Given the description of an element on the screen output the (x, y) to click on. 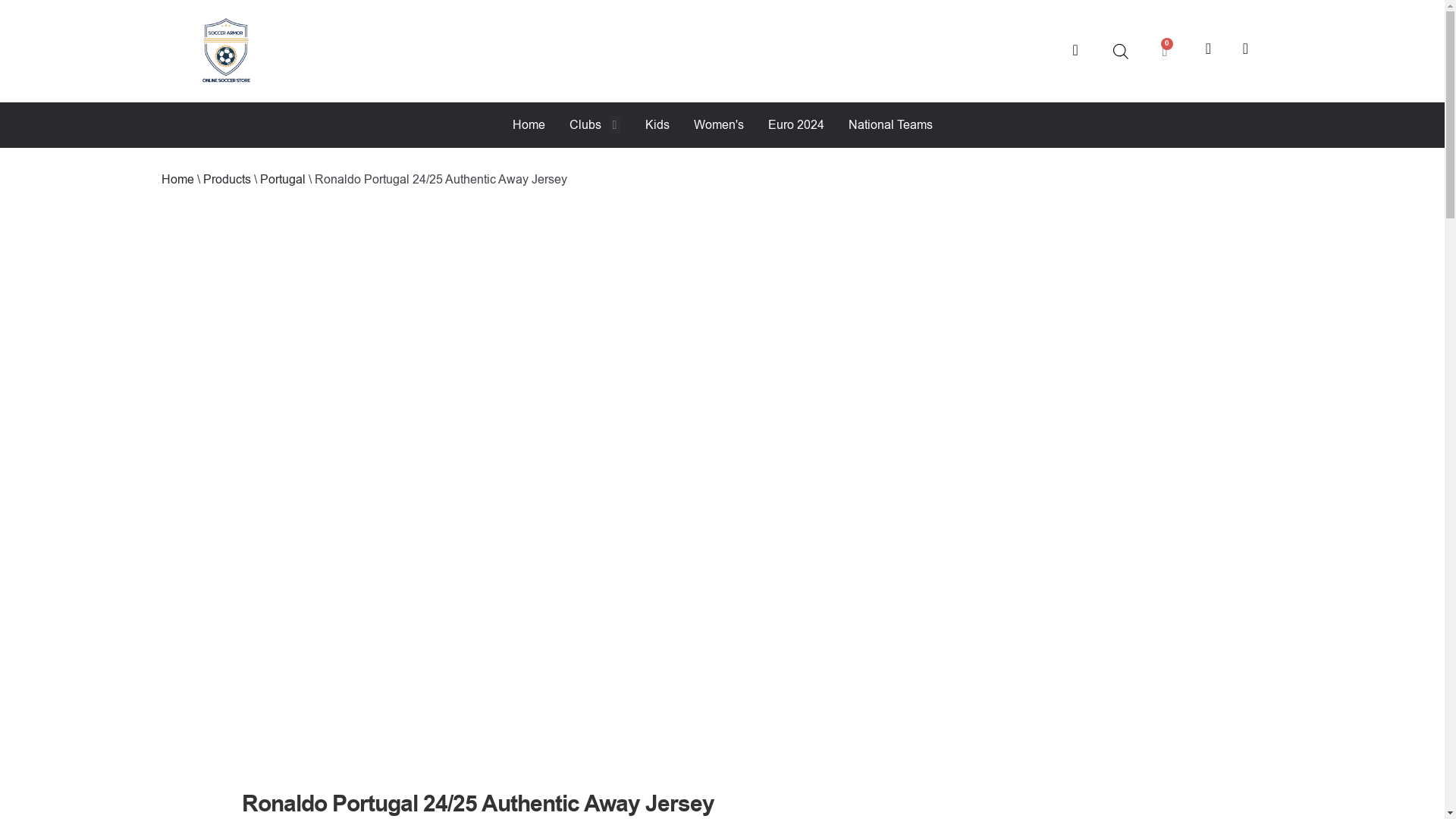
Kids (656, 125)
Women's (717, 125)
Home (528, 125)
0 (1163, 50)
Euro 2024 (795, 125)
